Given the description of an element on the screen output the (x, y) to click on. 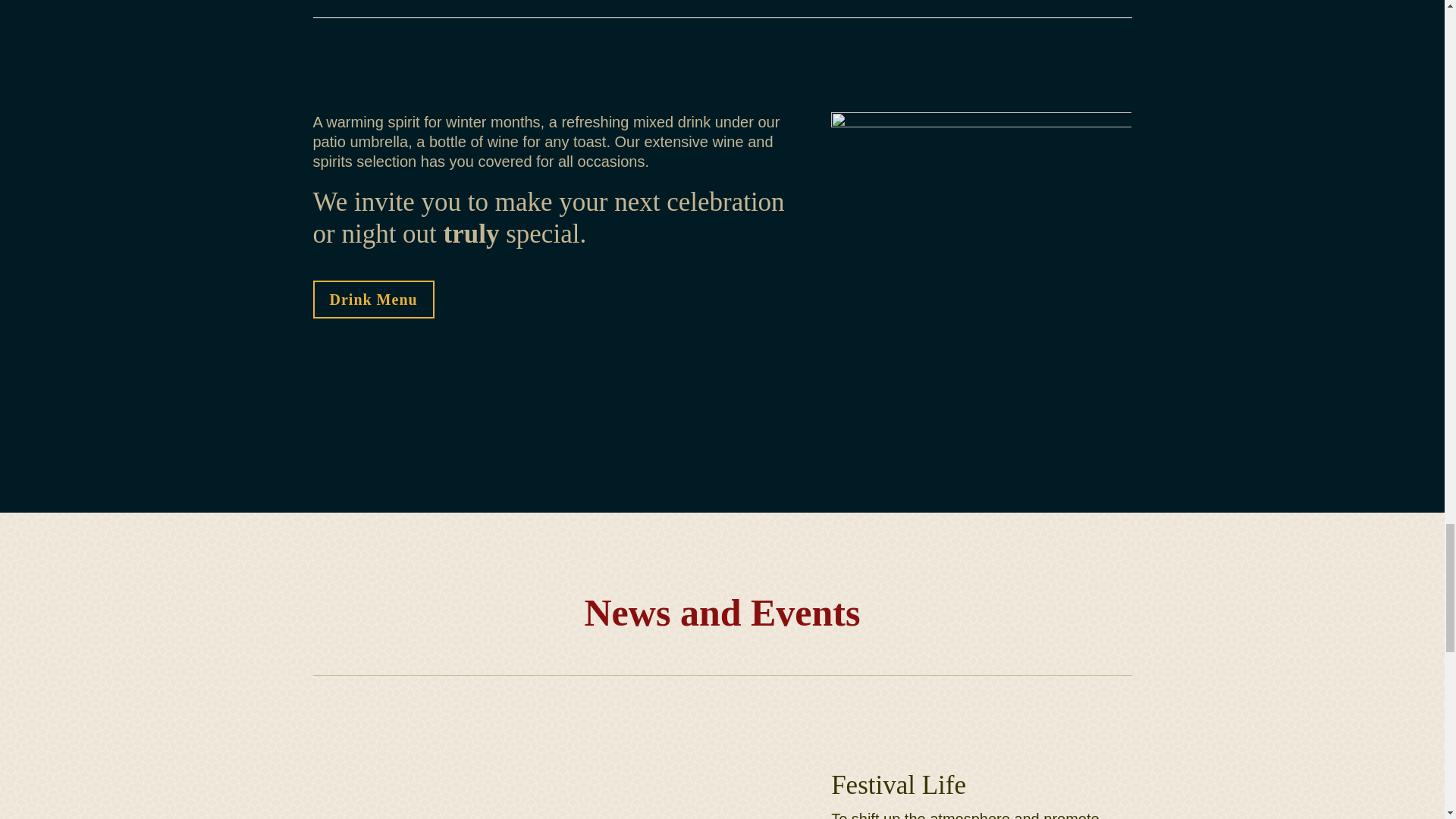
Drink Menu (373, 299)
